Given the description of an element on the screen output the (x, y) to click on. 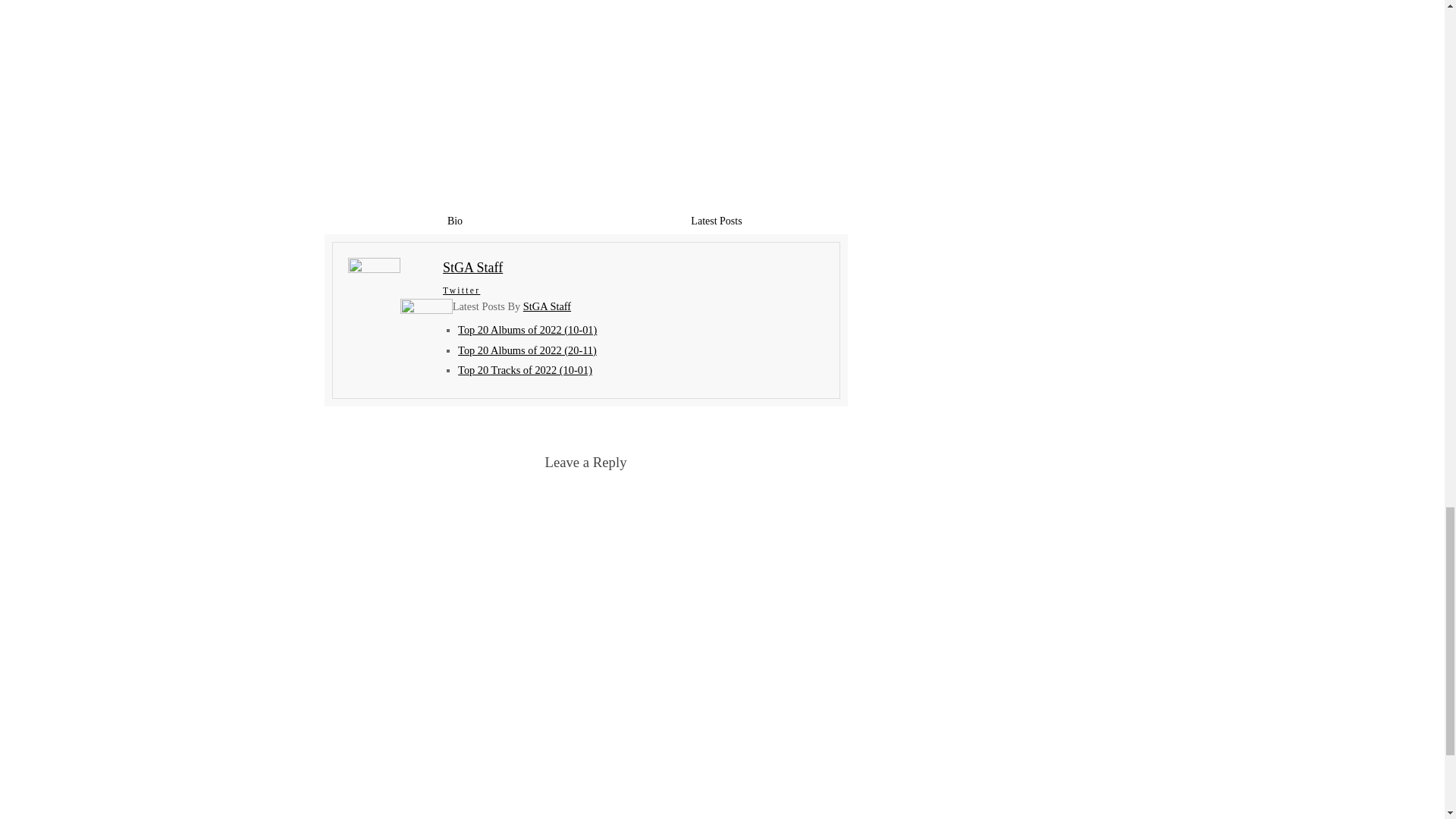
StGA Staff (546, 306)
Twitter (461, 289)
Bio (455, 221)
StGA Staff (472, 267)
Latest Posts (716, 221)
